Given the description of an element on the screen output the (x, y) to click on. 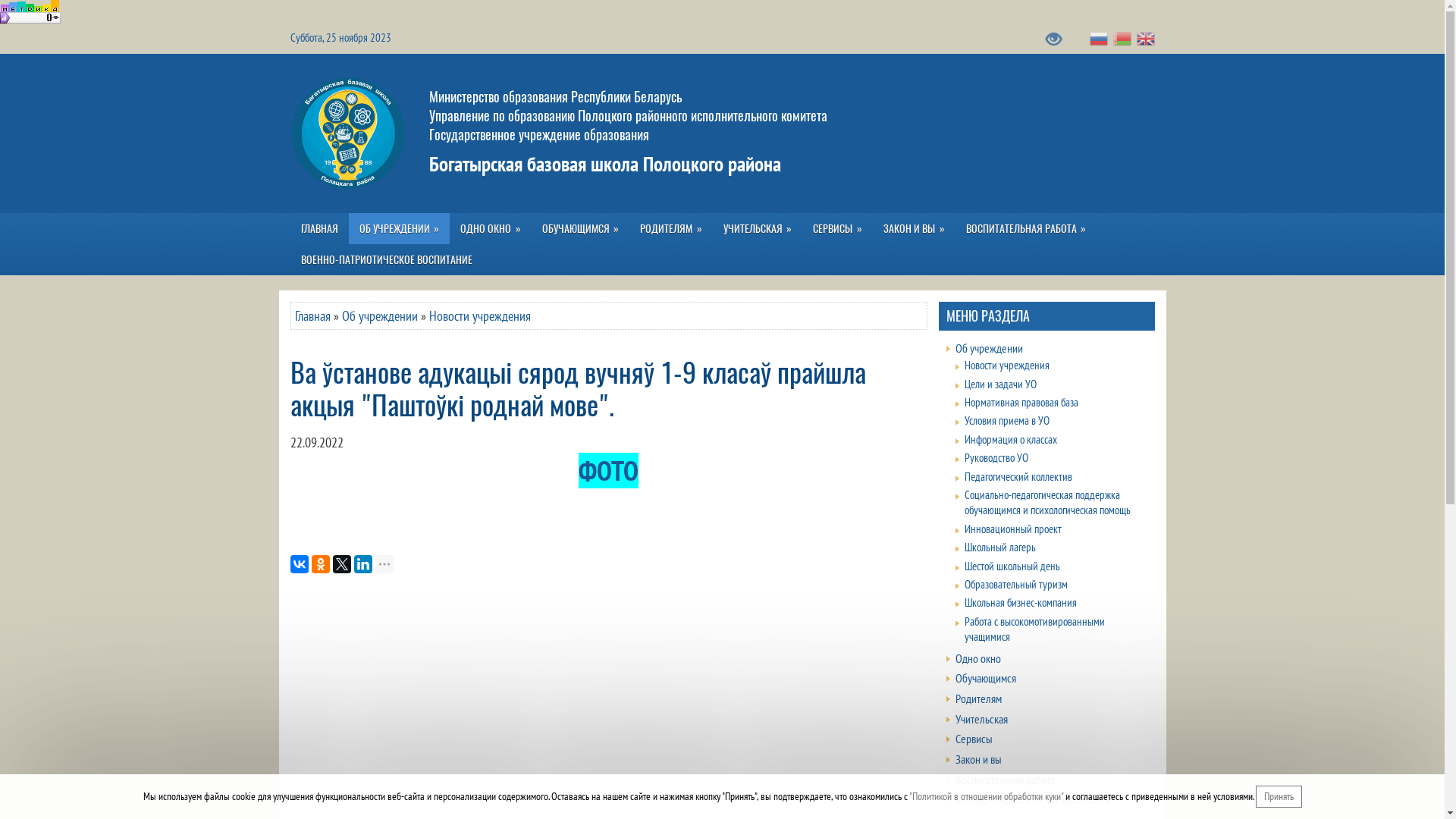
Twitter Element type: hover (341, 564)
LinkedIn Element type: hover (362, 564)
